Given the description of an element on the screen output the (x, y) to click on. 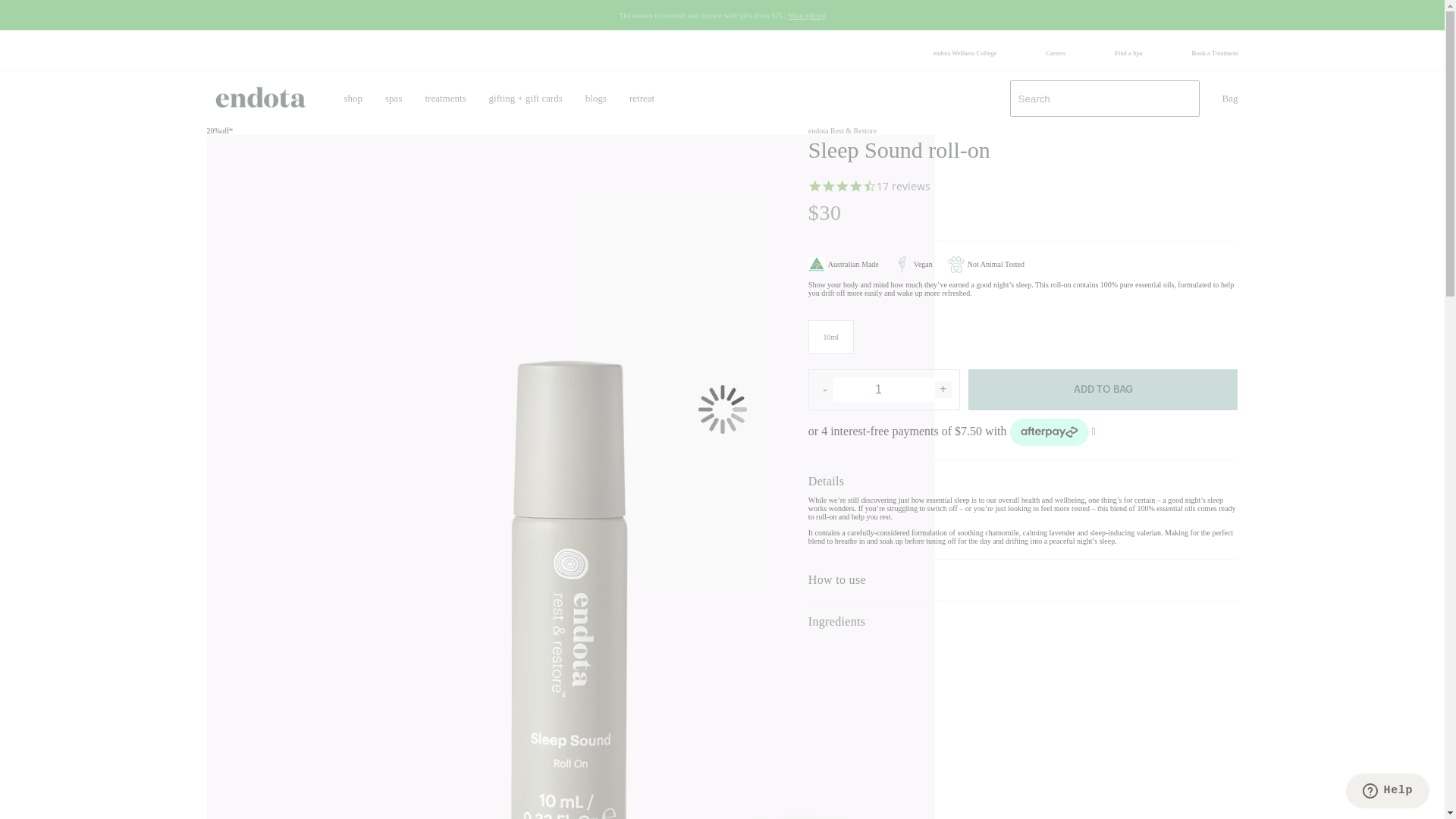
Free shipping on orders over $75^ Element type: text (722, 14)
Qty Element type: hover (884, 389)
endota Wellness College Element type: text (965, 52)
Bag Element type: text (1230, 98)
spas Element type: text (393, 98)
Careers Element type: text (1055, 52)
blogs Element type: text (595, 98)
retreat Element type: text (641, 98)
Book a Treatment Element type: text (1215, 52)
ADD TO BAG Element type: text (1102, 389)
treatments Element type: text (445, 98)
- Element type: text (824, 389)
endota Rest & Restore Element type: text (842, 130)
Opens a widget where you can find more information Element type: hover (1387, 792)
gifting + gift cards Element type: text (525, 98)
+ Element type: text (943, 389)
shop Element type: text (353, 98)
Find a Spa Element type: text (1128, 52)
Skip to the end of the images gallery Element type: text (206, 125)
